Given the description of an element on the screen output the (x, y) to click on. 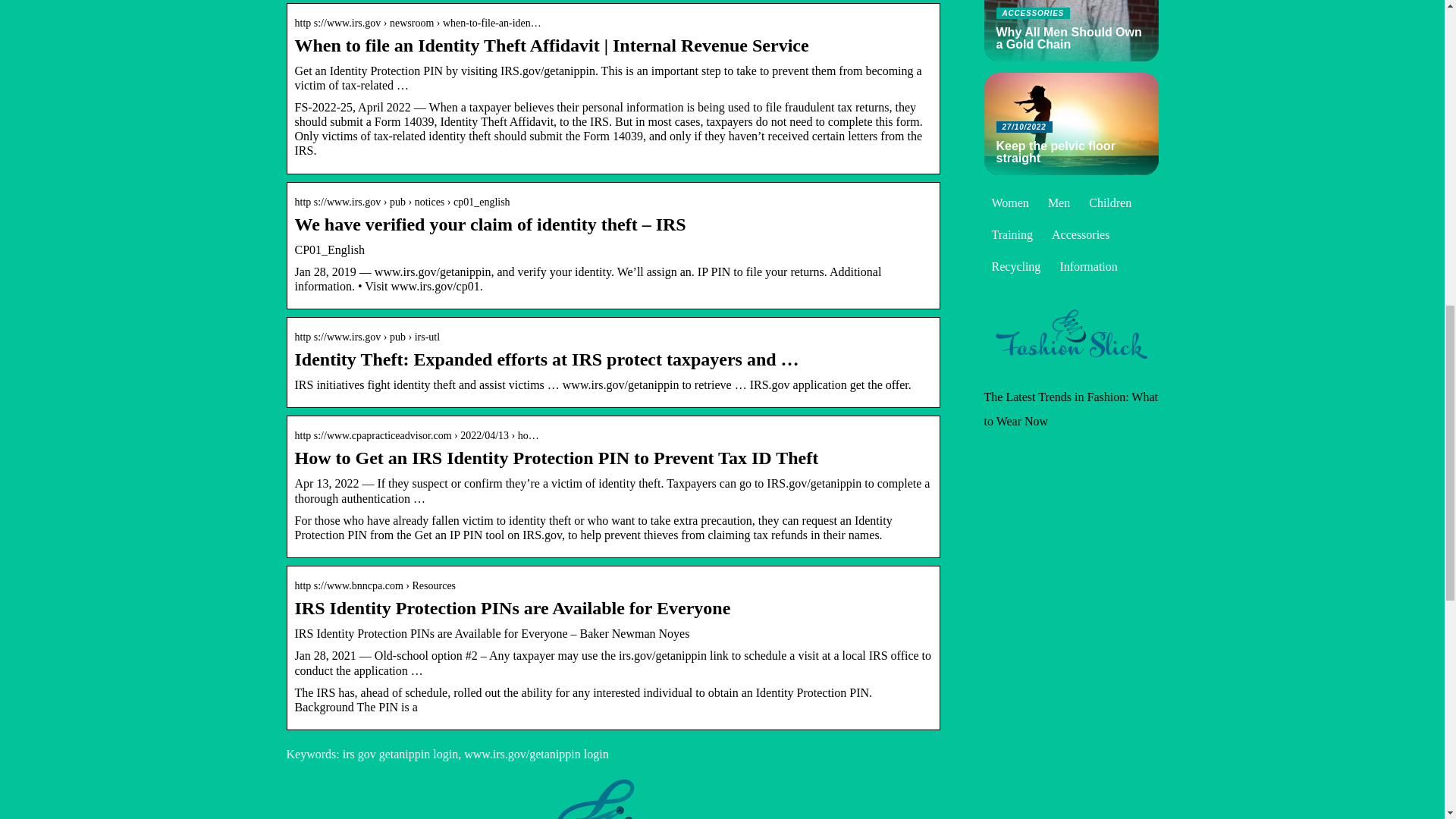
The Latest Trends in Fashion: What to Wear Now (1070, 408)
